Given the description of an element on the screen output the (x, y) to click on. 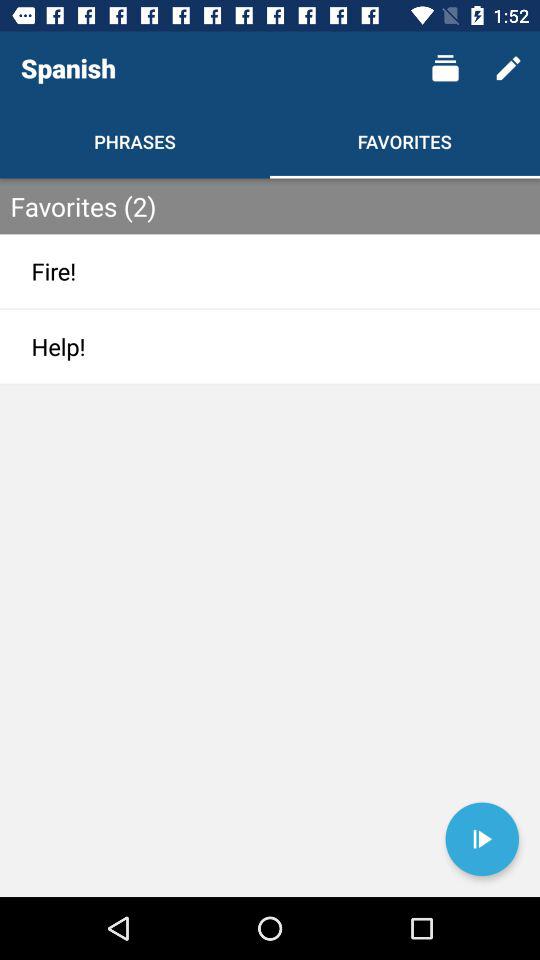
select the item next to the spanish icon (444, 67)
